Given the description of an element on the screen output the (x, y) to click on. 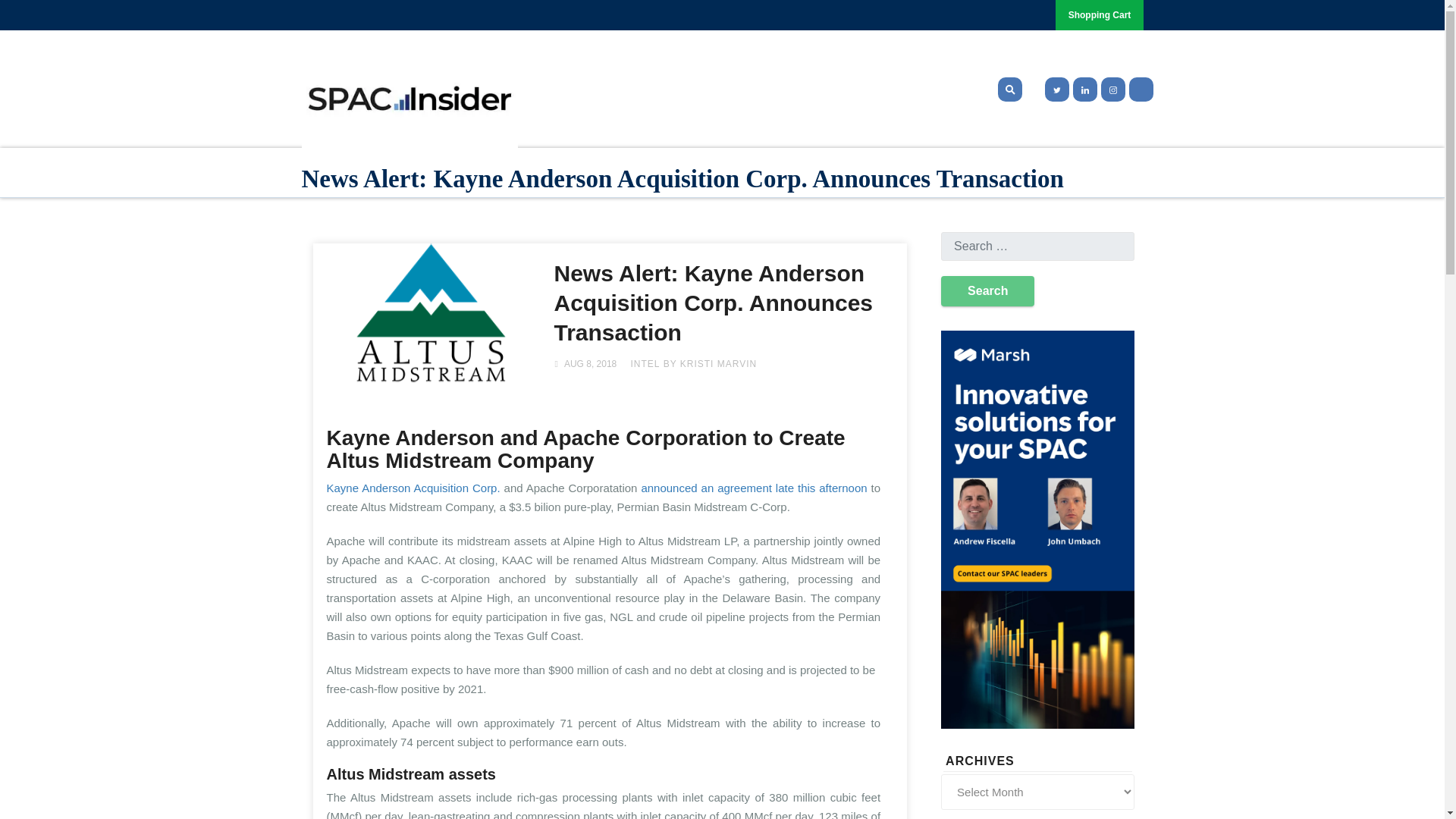
announced an agreement late this afternoon (753, 487)
Instagram (1112, 88)
Apple Podcasts (1140, 88)
LinkedIn (1083, 88)
INTEL (644, 363)
Shopping Cart (1098, 15)
Twitter (1054, 88)
BY KRISTI MARVIN (710, 363)
Kayne Anderson Acquisition Corp. (412, 487)
Search (986, 291)
